Given the description of an element on the screen output the (x, y) to click on. 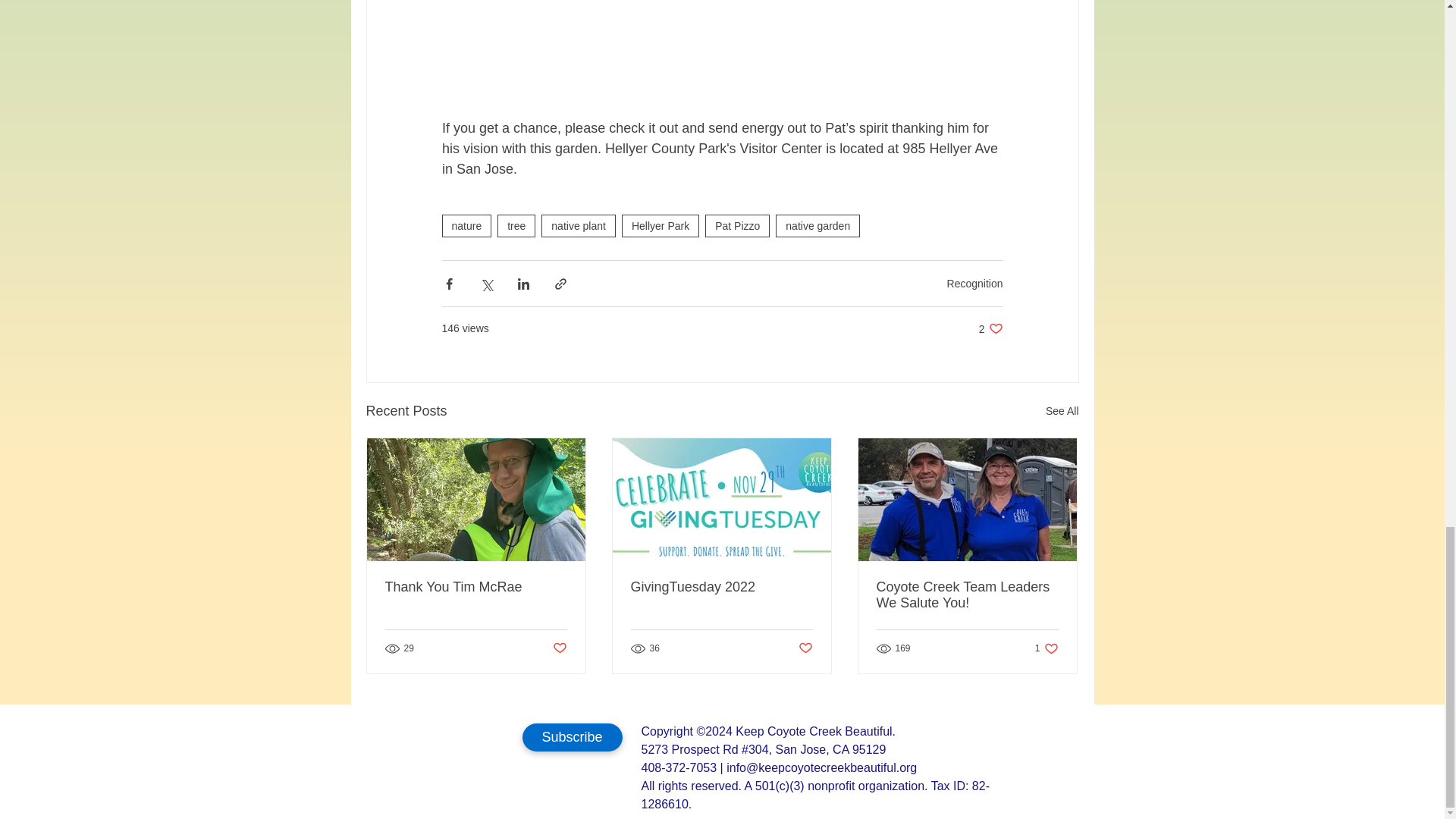
tree (516, 225)
nature (466, 225)
